Given the description of an element on the screen output the (x, y) to click on. 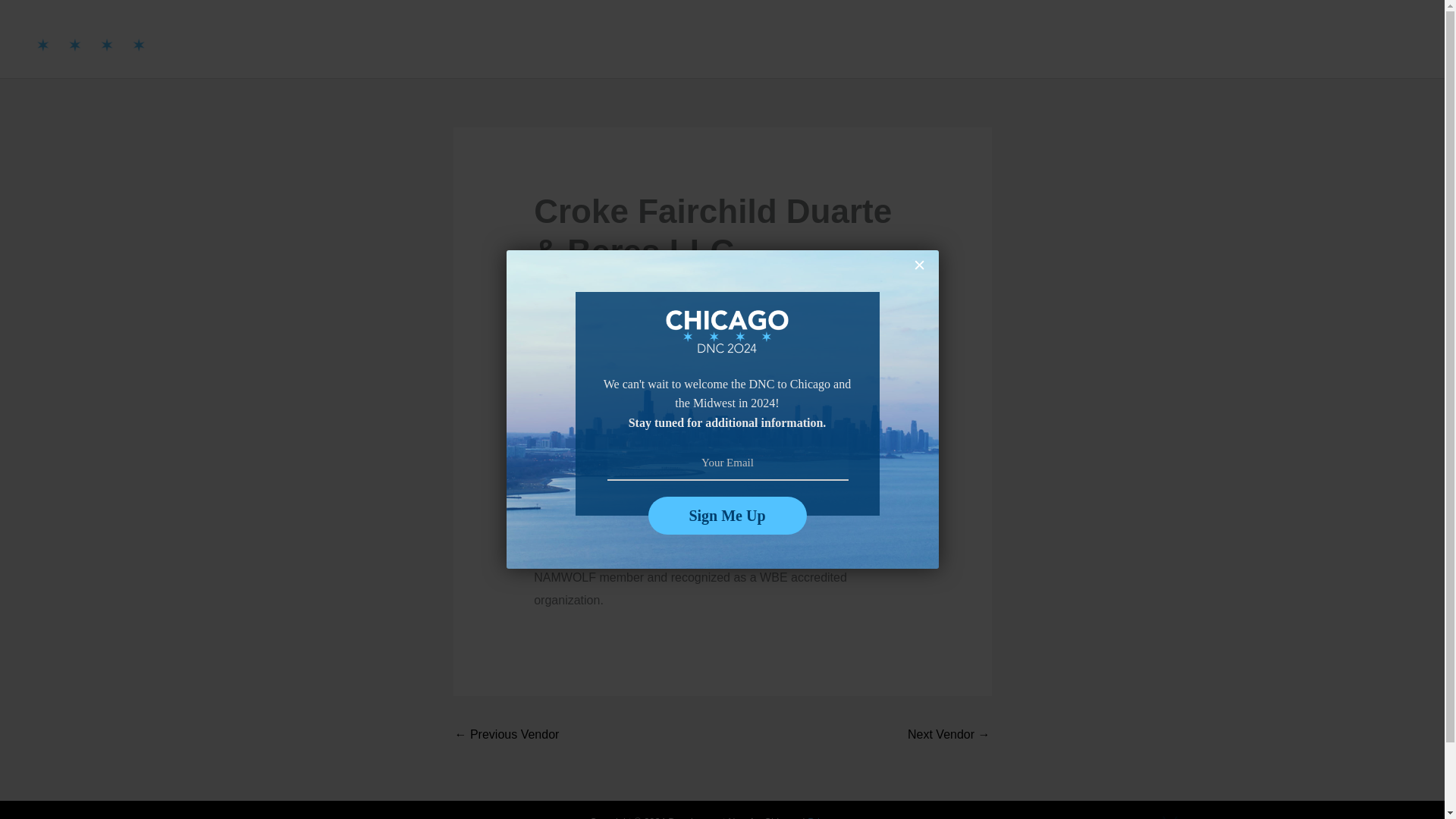
Venues (1126, 38)
Events (1293, 38)
Design and Development by EDUCO Web Design Chicago (1168, 817)
Vendors (1055, 38)
News (1352, 38)
Get Involved (1206, 38)
The Golden Connect (948, 735)
FAQs (1403, 38)
Typic Woods (506, 735)
